Given the description of an element on the screen output the (x, y) to click on. 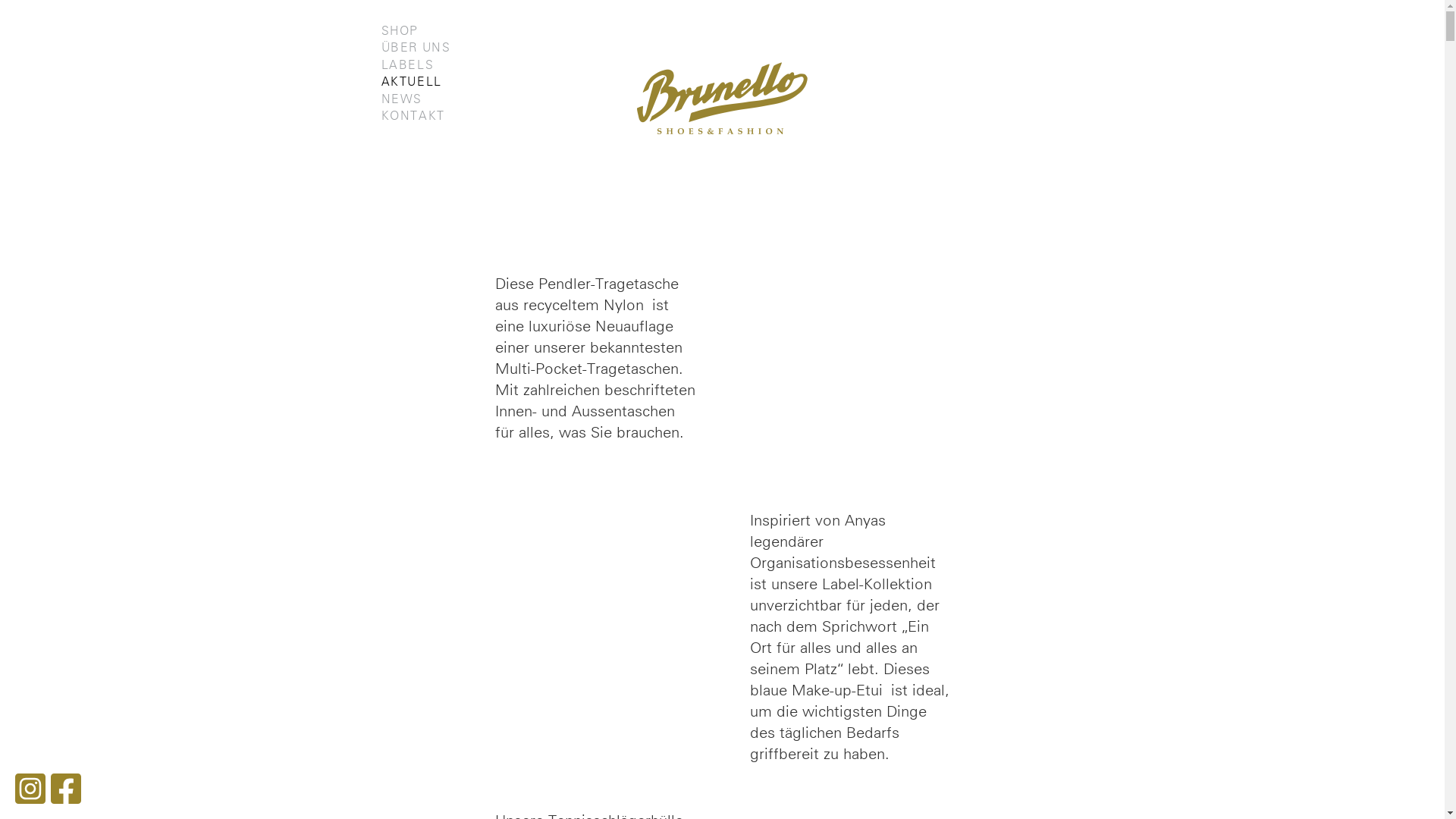
SHOP Element type: text (398, 31)
KONTAKT Element type: text (412, 115)
AKTUELL Element type: text (410, 81)
NEWS Element type: text (400, 99)
LABELS Element type: text (406, 65)
